Given the description of an element on the screen output the (x, y) to click on. 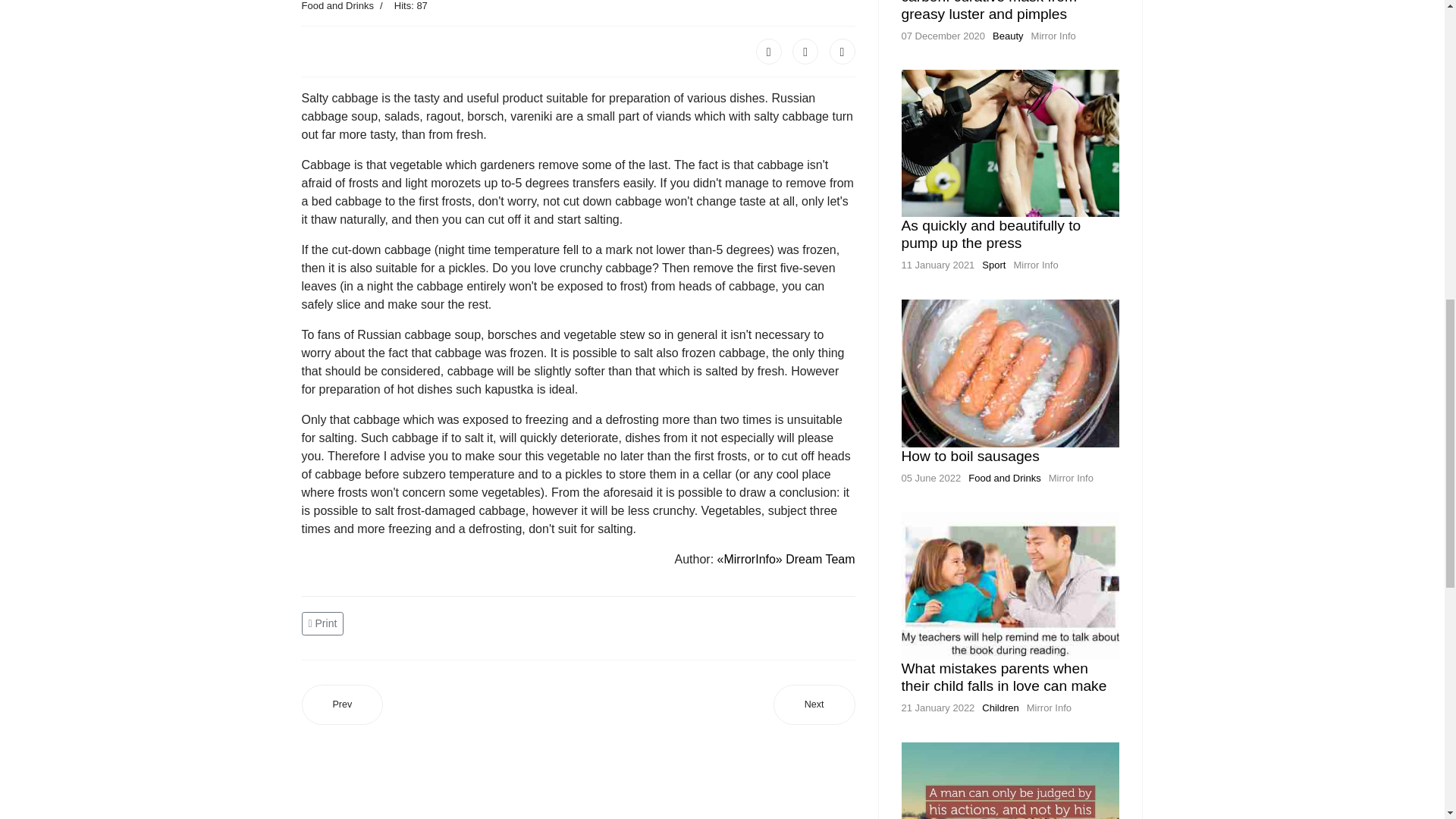
How to boil sausages (970, 455)
Print (324, 622)
LinkedIn (842, 51)
Category: Food and Drinks (337, 6)
Food and Drinks (337, 5)
Next (814, 704)
Food and Drinks (1004, 478)
Sport (993, 265)
Facebook (768, 51)
As quickly and beautifully to pump up the press (990, 233)
Beauty (1007, 35)
Twitter (805, 51)
Prev (342, 704)
